Given the description of an element on the screen output the (x, y) to click on. 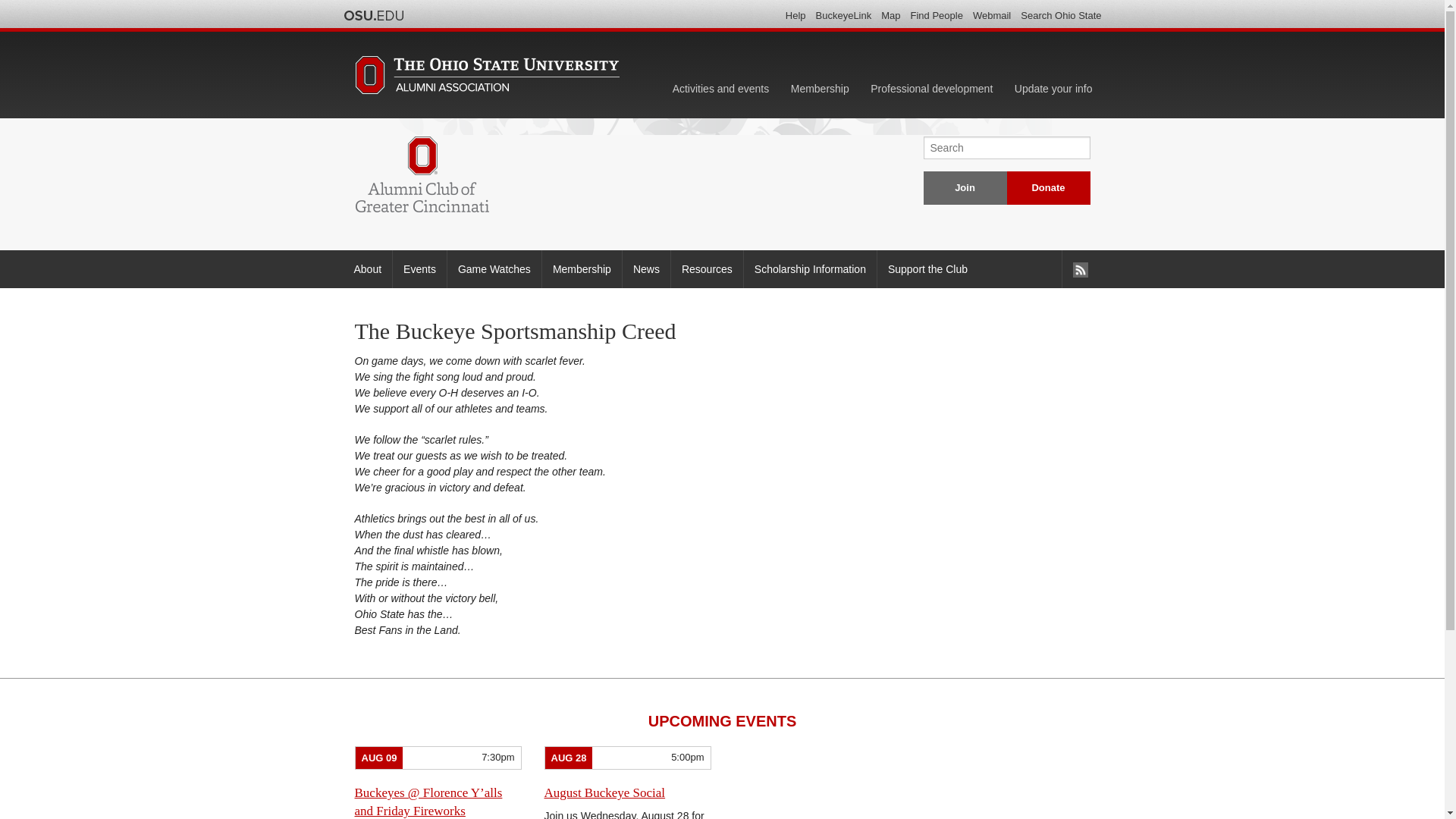
Alumni Club of Greater Cincinnati  (422, 174)
Search Ohio State (1060, 15)
Professional development (931, 88)
Webmail (991, 15)
Game Watches (493, 269)
Support the Club (927, 269)
Map (889, 15)
About (366, 269)
Resources (705, 269)
The Ohio State University (372, 15)
Activities and events (720, 88)
Events (418, 269)
Membership (820, 88)
Scholarship Information (809, 269)
August Buckeye Social (604, 792)
